Given the description of an element on the screen output the (x, y) to click on. 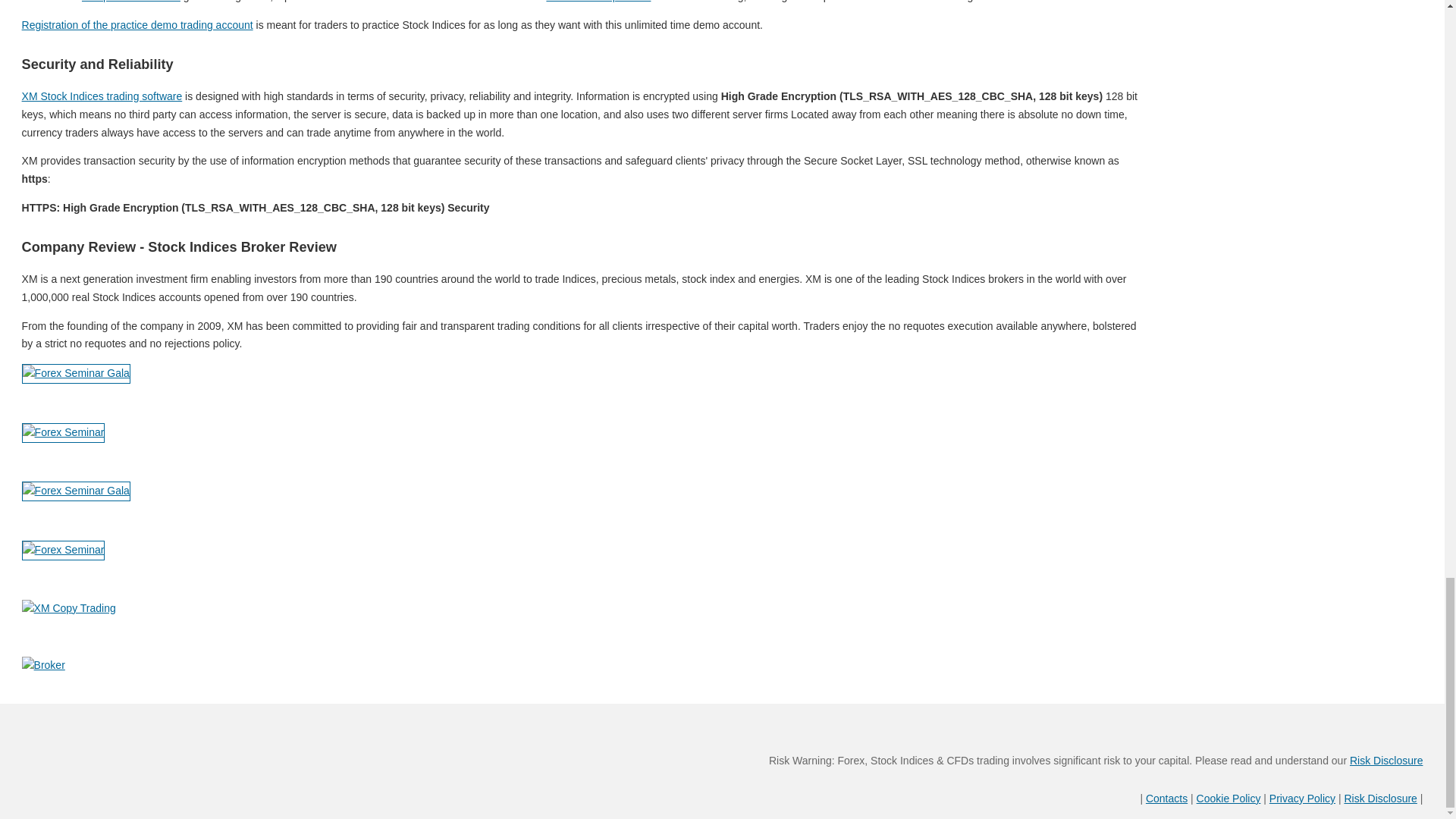
Registration of the practice demo trading account (137, 24)
free practice account (130, 1)
MetaTrader 4 platform (598, 1)
XM Stock Indices trading software (102, 96)
